Given the description of an element on the screen output the (x, y) to click on. 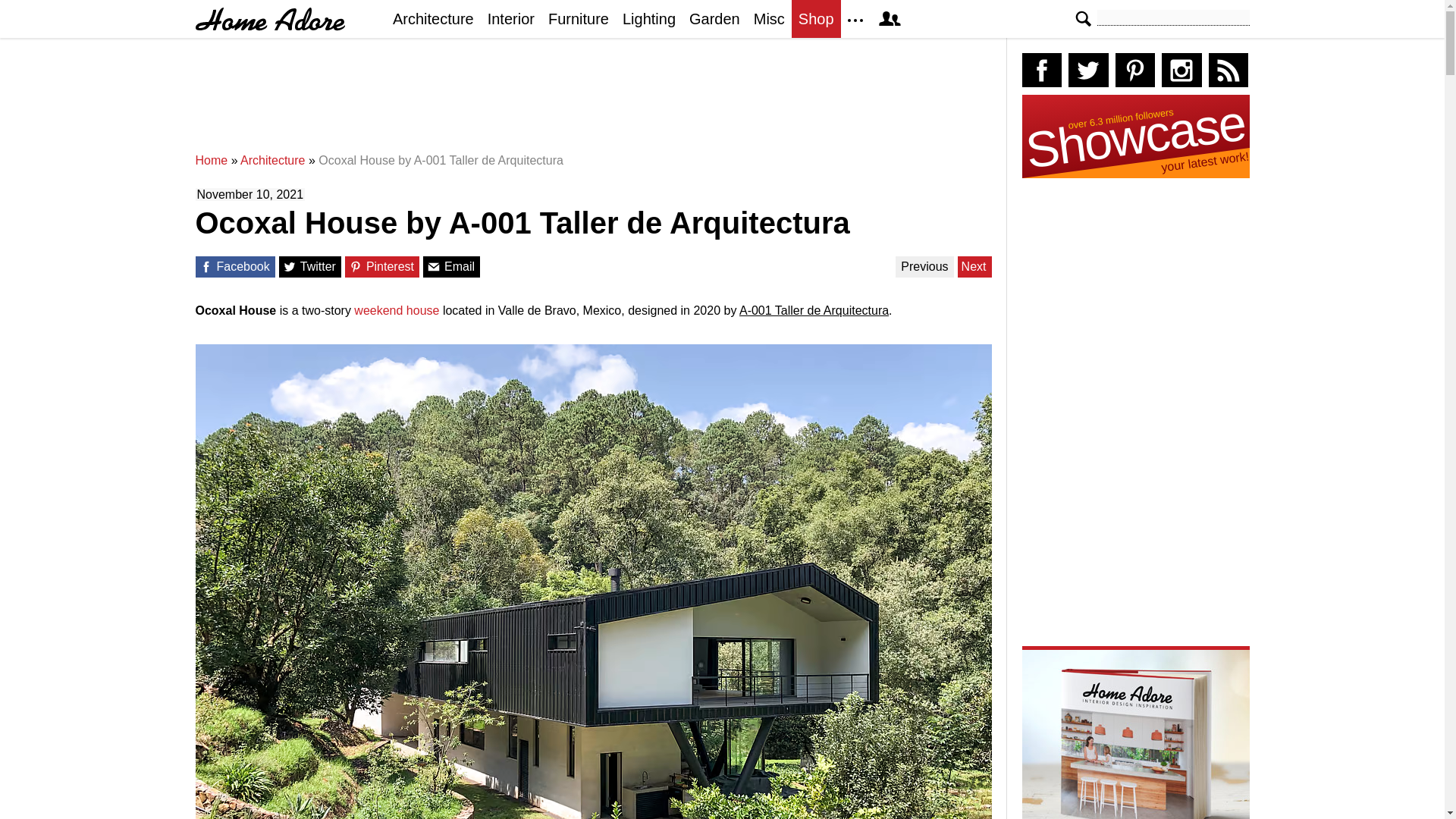
Architecture (272, 160)
Misc (769, 18)
Architecture (272, 160)
Furniture (578, 18)
HomeAdore (270, 19)
Member Area (889, 17)
Advertisement (596, 101)
Share on Twitter (289, 266)
Interior (510, 18)
Share with a Friend (433, 266)
